Given the description of an element on the screen output the (x, y) to click on. 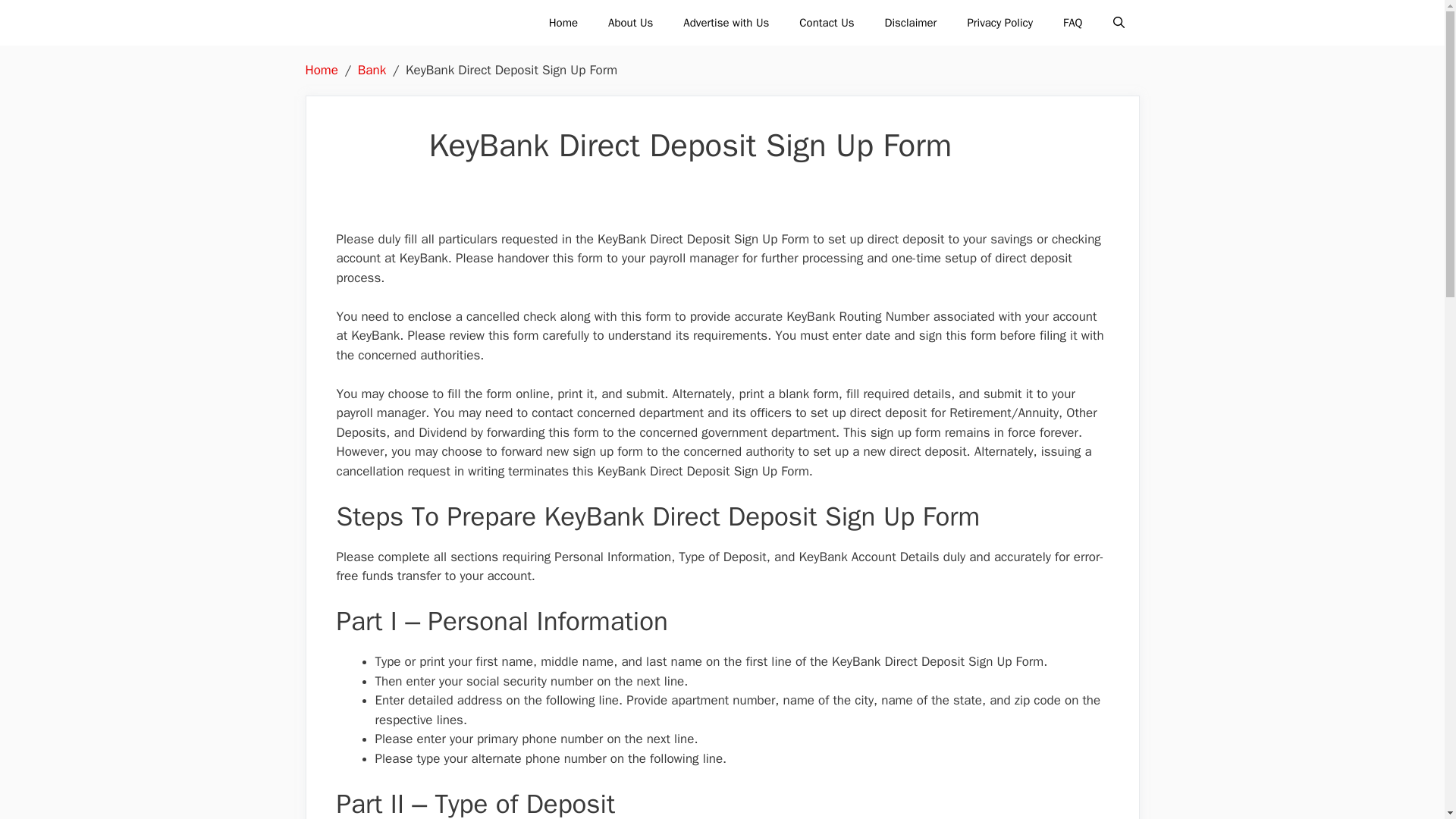
Privacy Policy (1000, 22)
FAQ (1072, 22)
Bank (371, 69)
About Us (630, 22)
Home (320, 69)
Advertise with Us (726, 22)
Disclaimer (910, 22)
Contact Us (826, 22)
Home (563, 22)
